Given the description of an element on the screen output the (x, y) to click on. 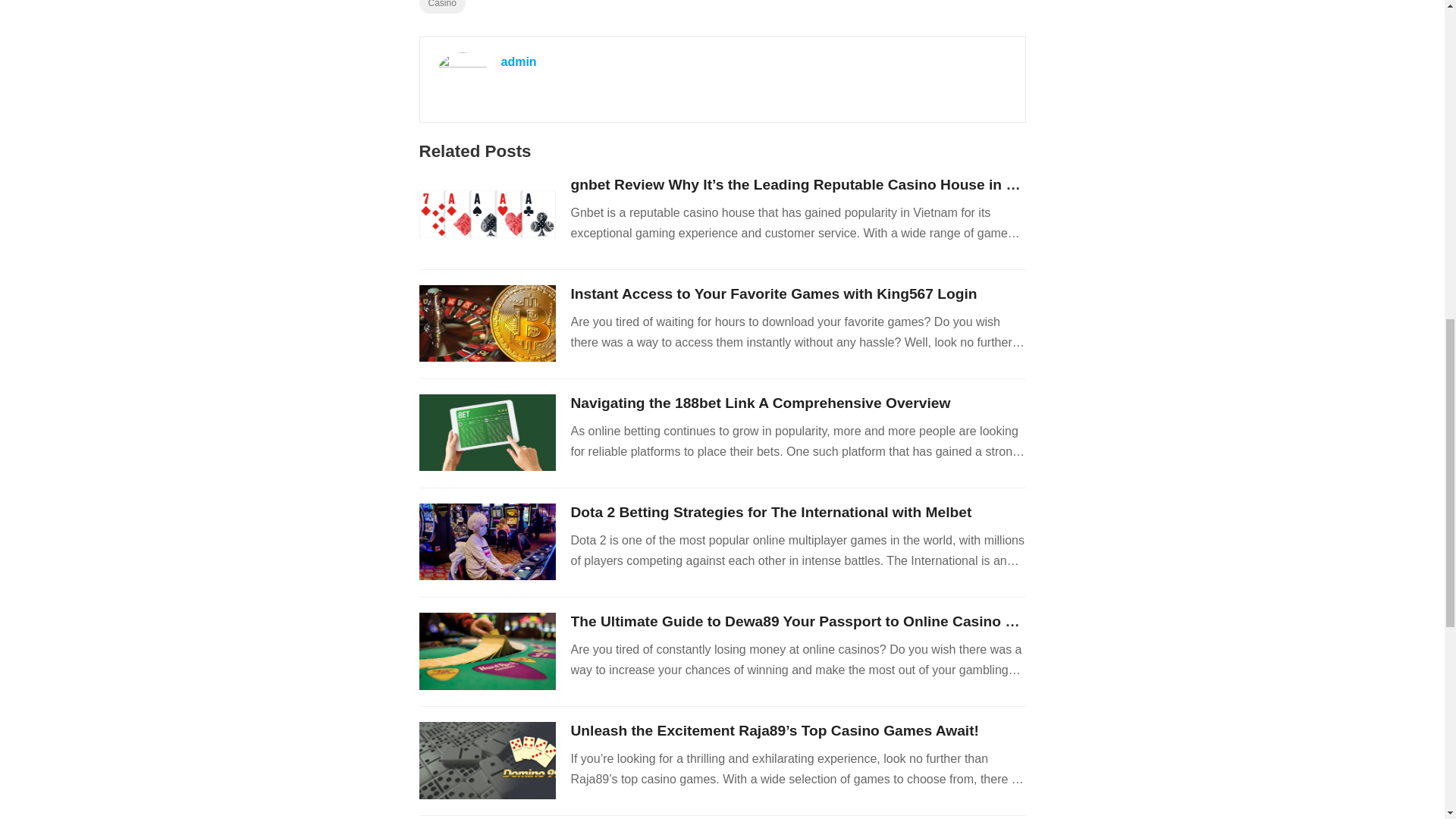
Casino (441, 6)
Navigating the 188bet Link A Comprehensive Overview (760, 402)
Dota 2 Betting Strategies for The International with Melbet (770, 512)
Instant Access to Your Favorite Games with King567 Login (773, 293)
admin (517, 60)
